Given the description of an element on the screen output the (x, y) to click on. 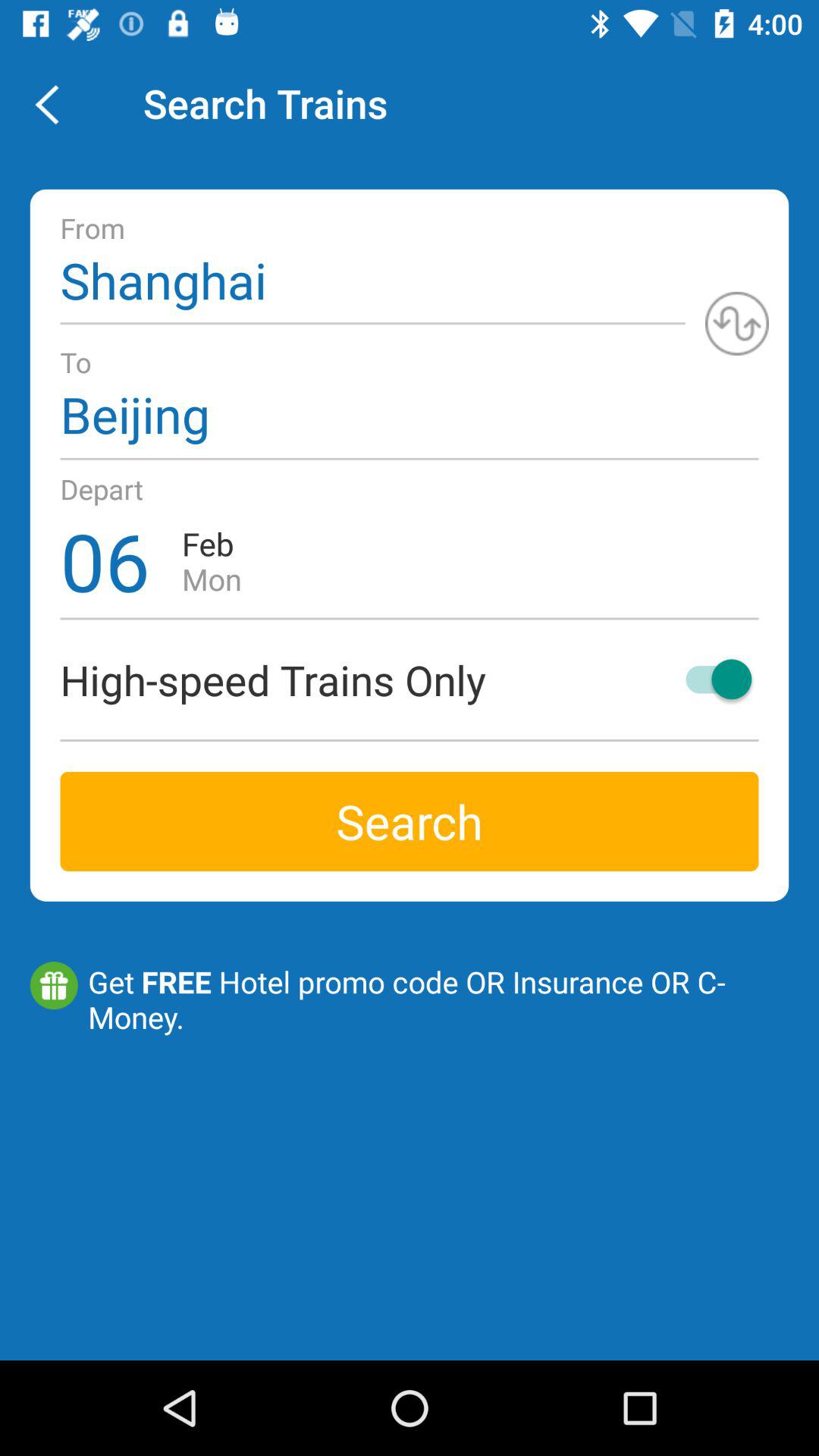
turn on the icon at the top right corner (736, 323)
